Given the description of an element on the screen output the (x, y) to click on. 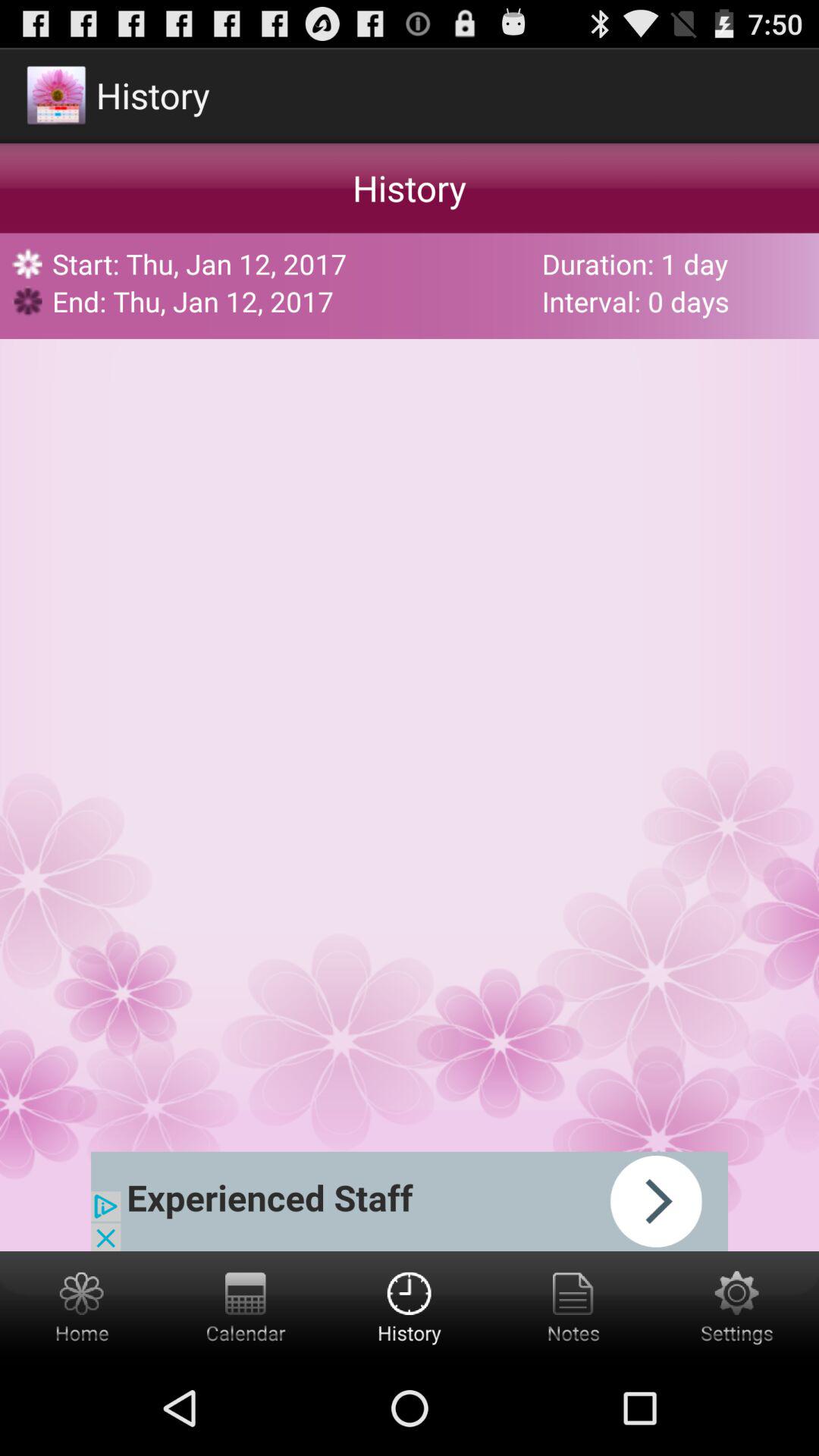
notes button (573, 1305)
